Given the description of an element on the screen output the (x, y) to click on. 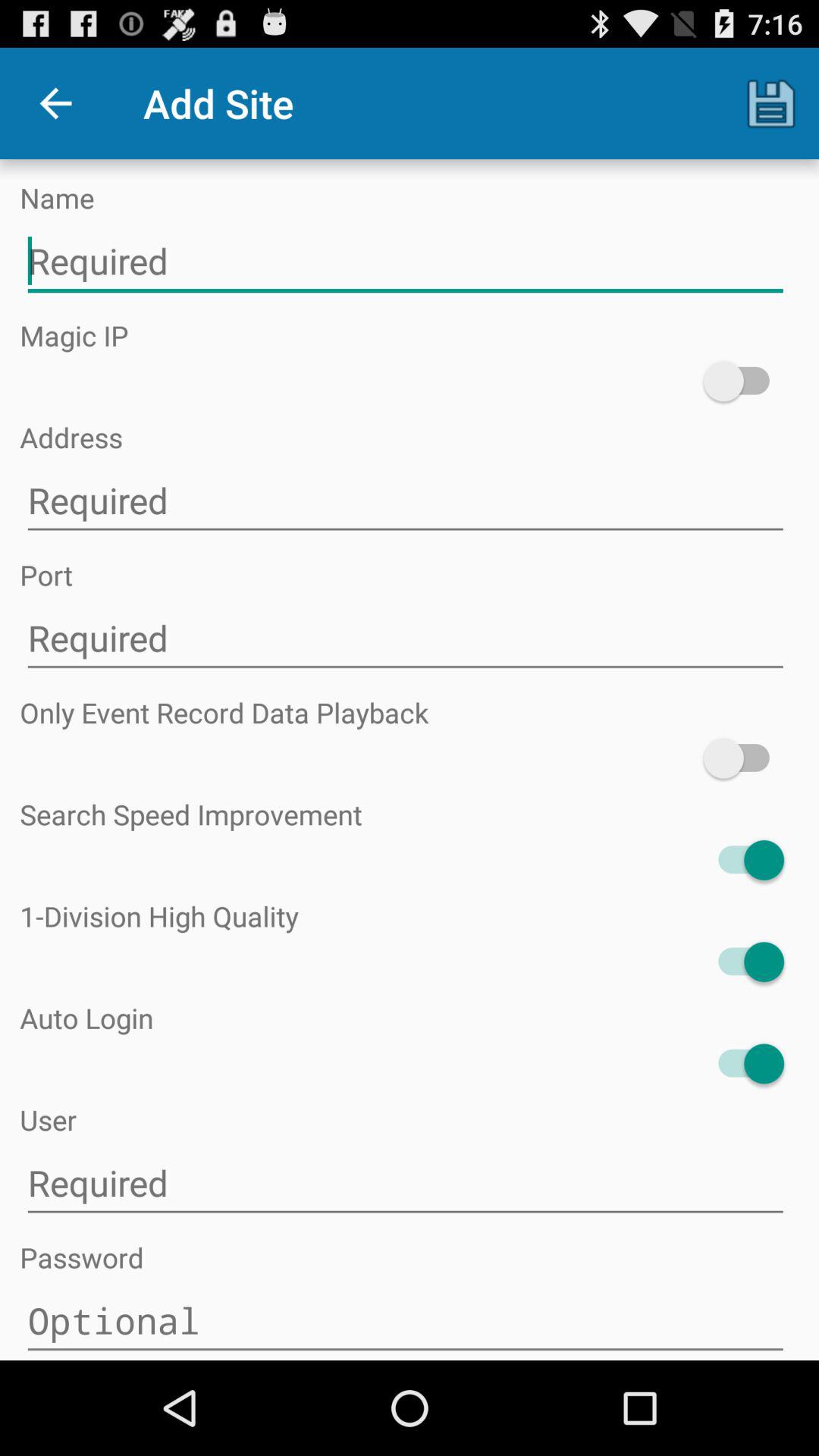
toggle magic ip (743, 381)
